Given the description of an element on the screen output the (x, y) to click on. 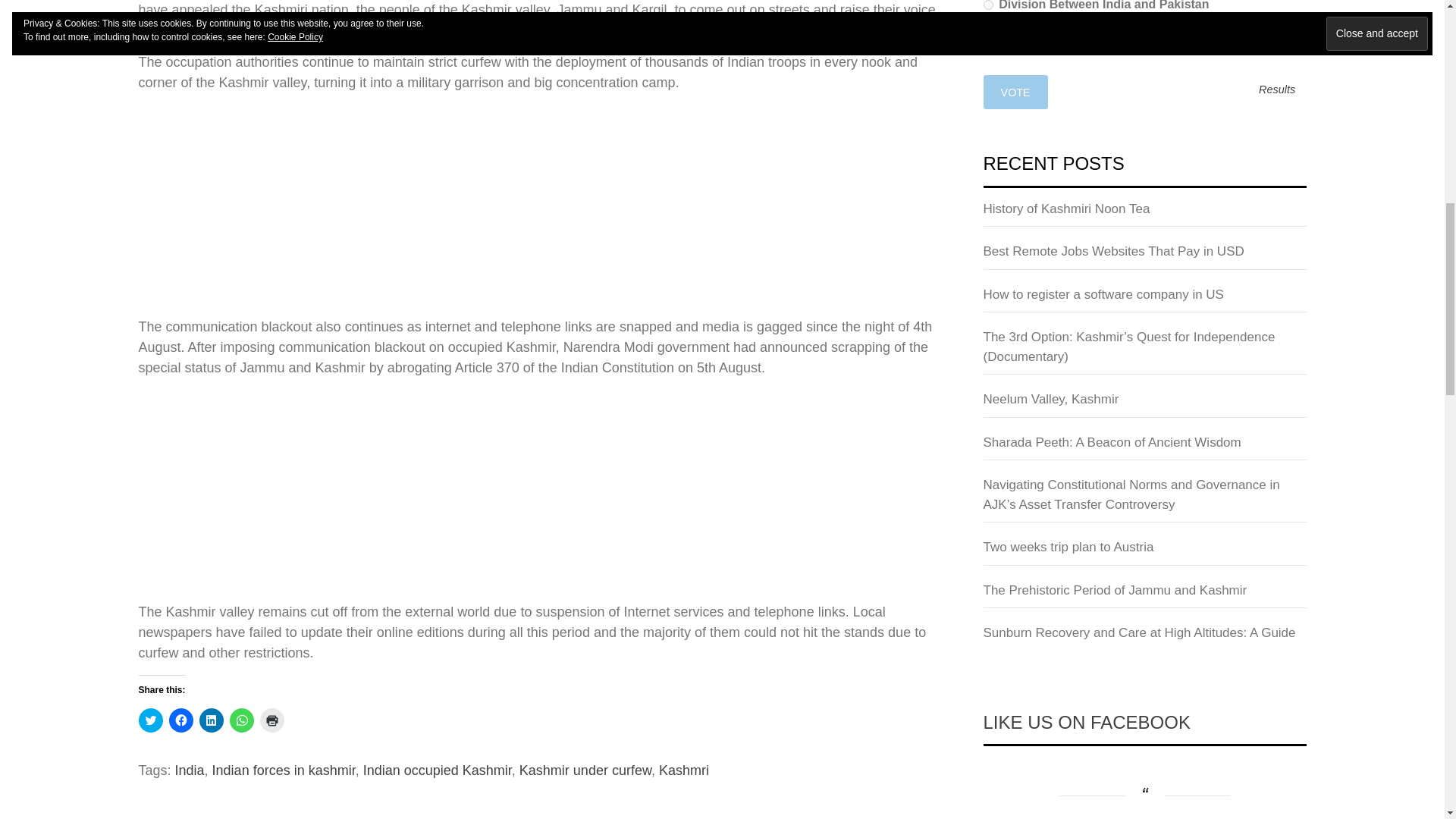
Click to print (271, 720)
Click to share on LinkedIn (210, 720)
Click to share on Twitter (149, 720)
Click to share on Facebook (180, 720)
Click to share on WhatsApp (240, 720)
Vote (1014, 91)
